Given the description of an element on the screen output the (x, y) to click on. 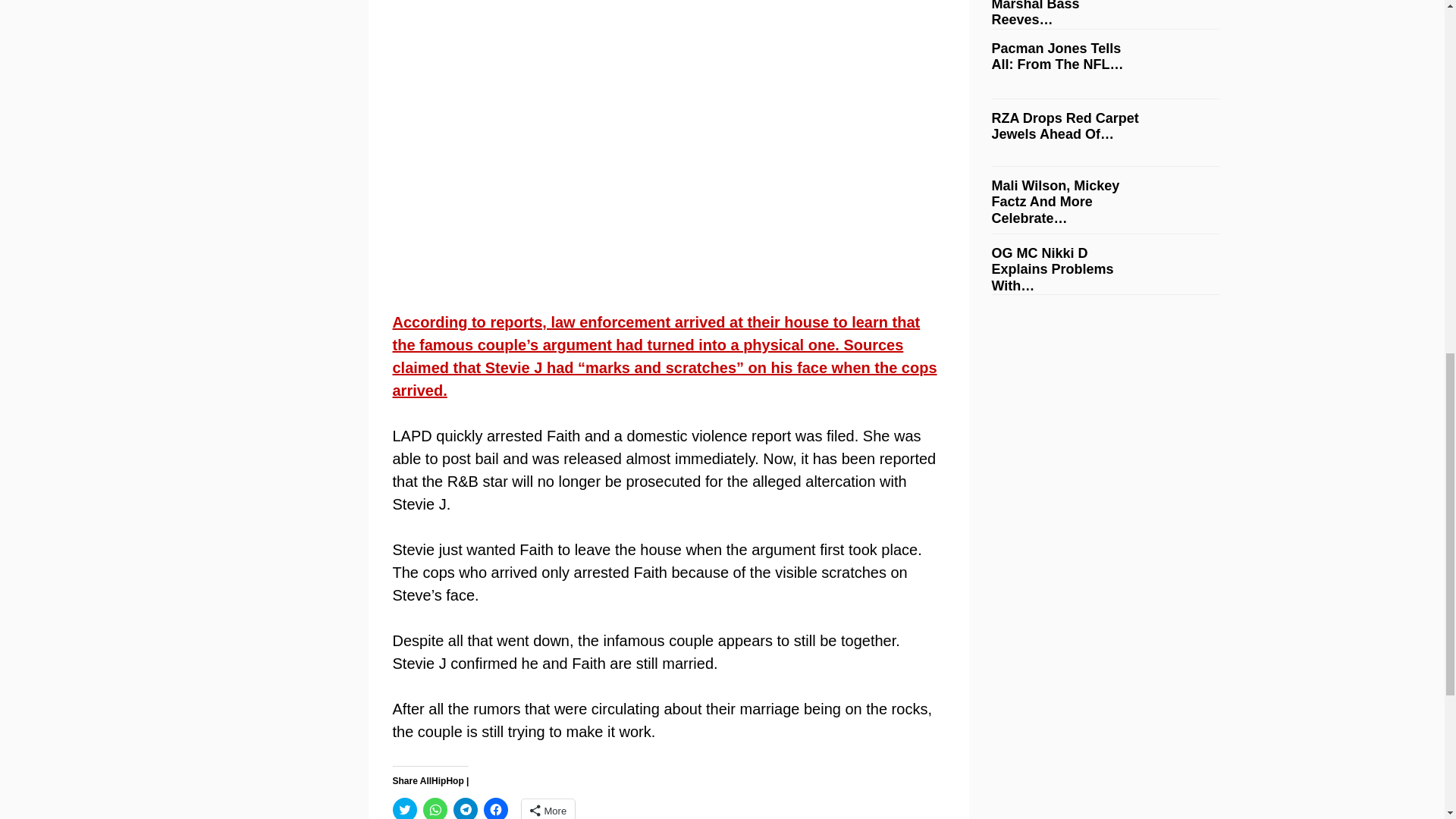
Click to share on Facebook (495, 808)
Click to share on Telegram (464, 808)
Click to share on WhatsApp (434, 808)
Click to share on Twitter (404, 808)
